Given the description of an element on the screen output the (x, y) to click on. 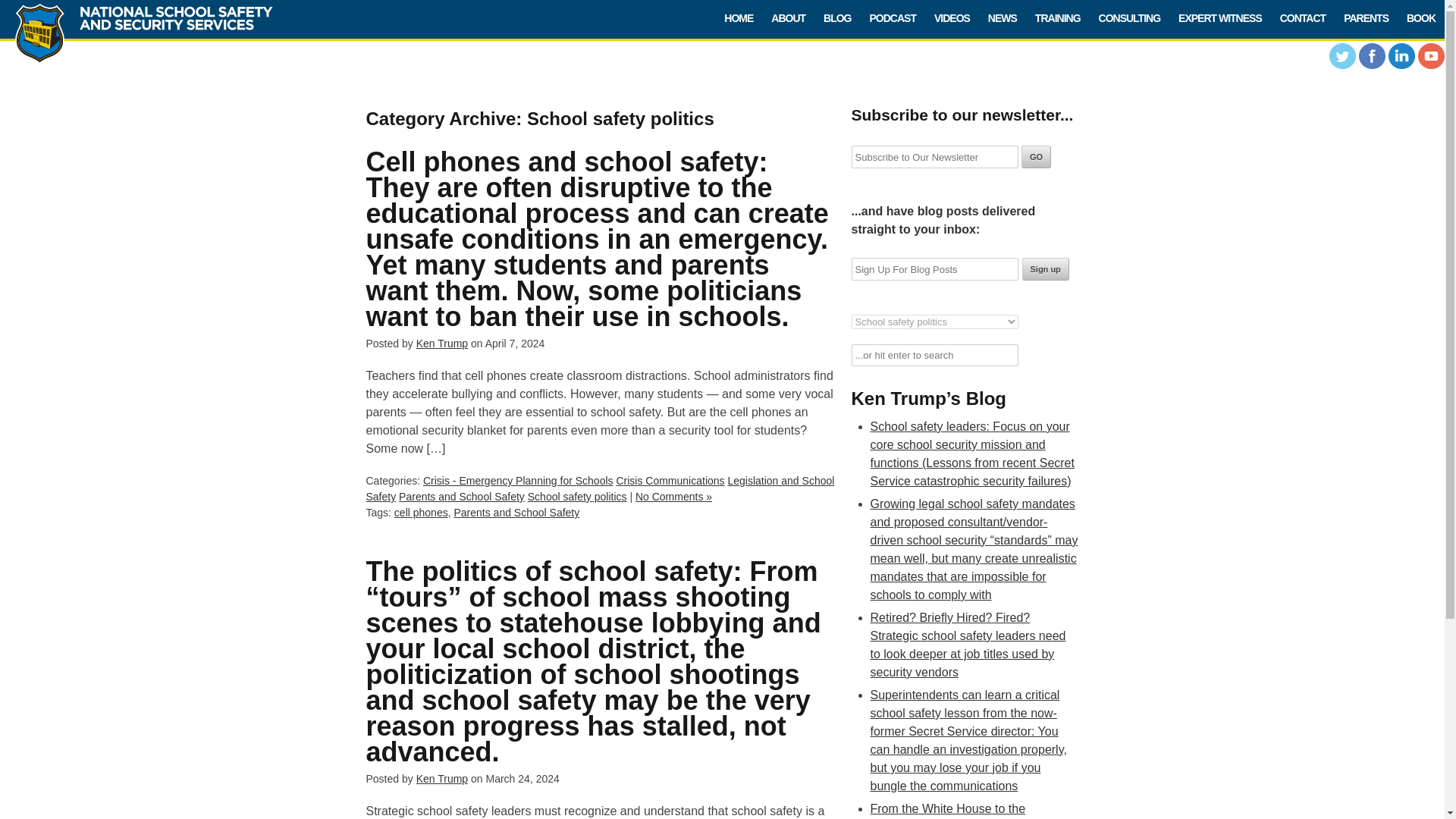
...or hit enter to search (933, 354)
Posts by Ken Trump (441, 778)
EXPERT WITNESS (1220, 18)
Sign up (1045, 268)
TRAINING (1057, 18)
CONTACT (1303, 18)
Posts by Ken Trump (441, 343)
ABOUT (787, 18)
HOME (737, 18)
